Given the description of an element on the screen output the (x, y) to click on. 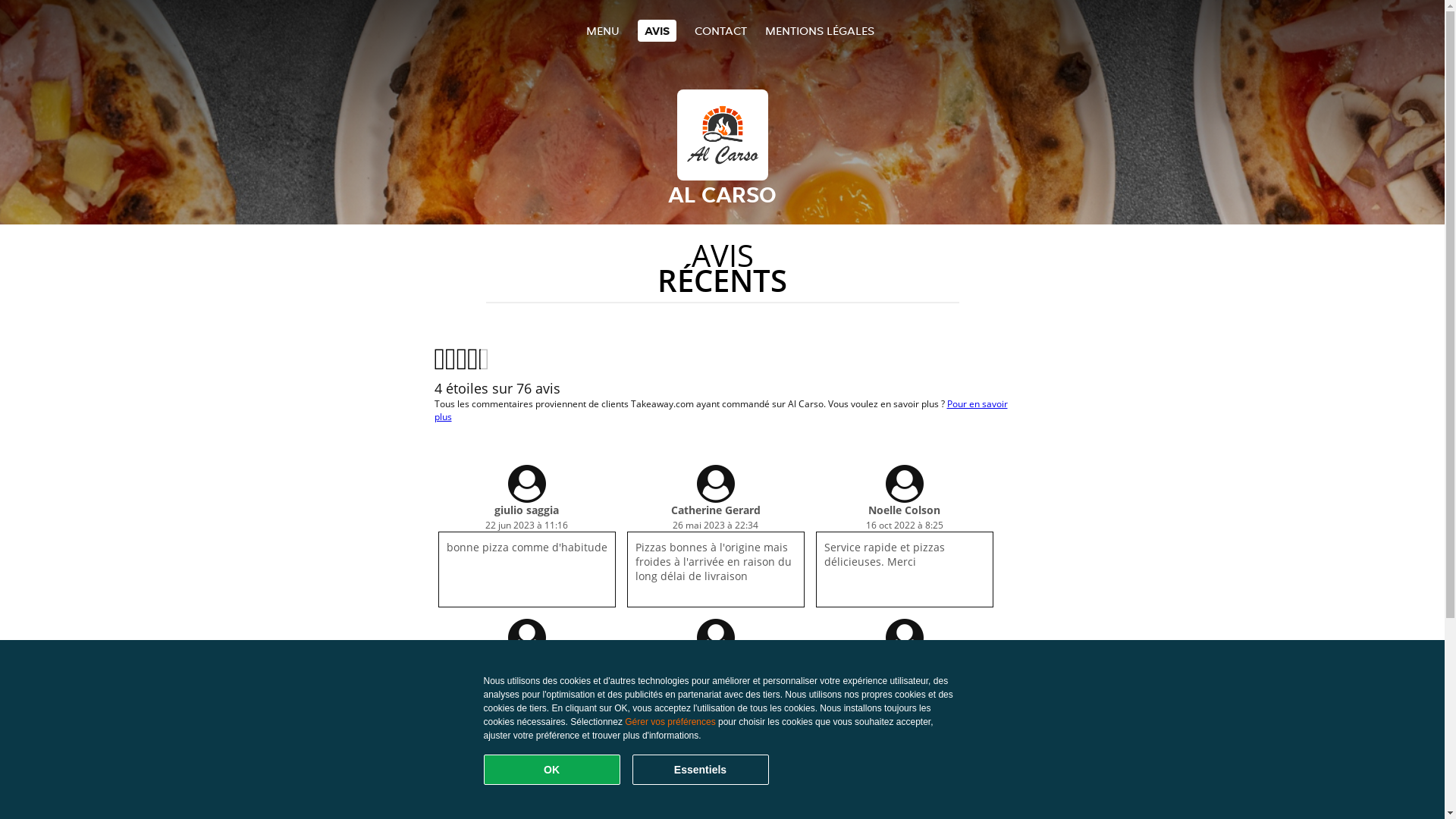
Pour en savoir plus Element type: text (720, 410)
CONTACT Element type: text (720, 30)
MENU Element type: text (601, 30)
AVIS Element type: text (656, 30)
OK Element type: text (551, 769)
Essentiels Element type: text (700, 769)
